Given the description of an element on the screen output the (x, y) to click on. 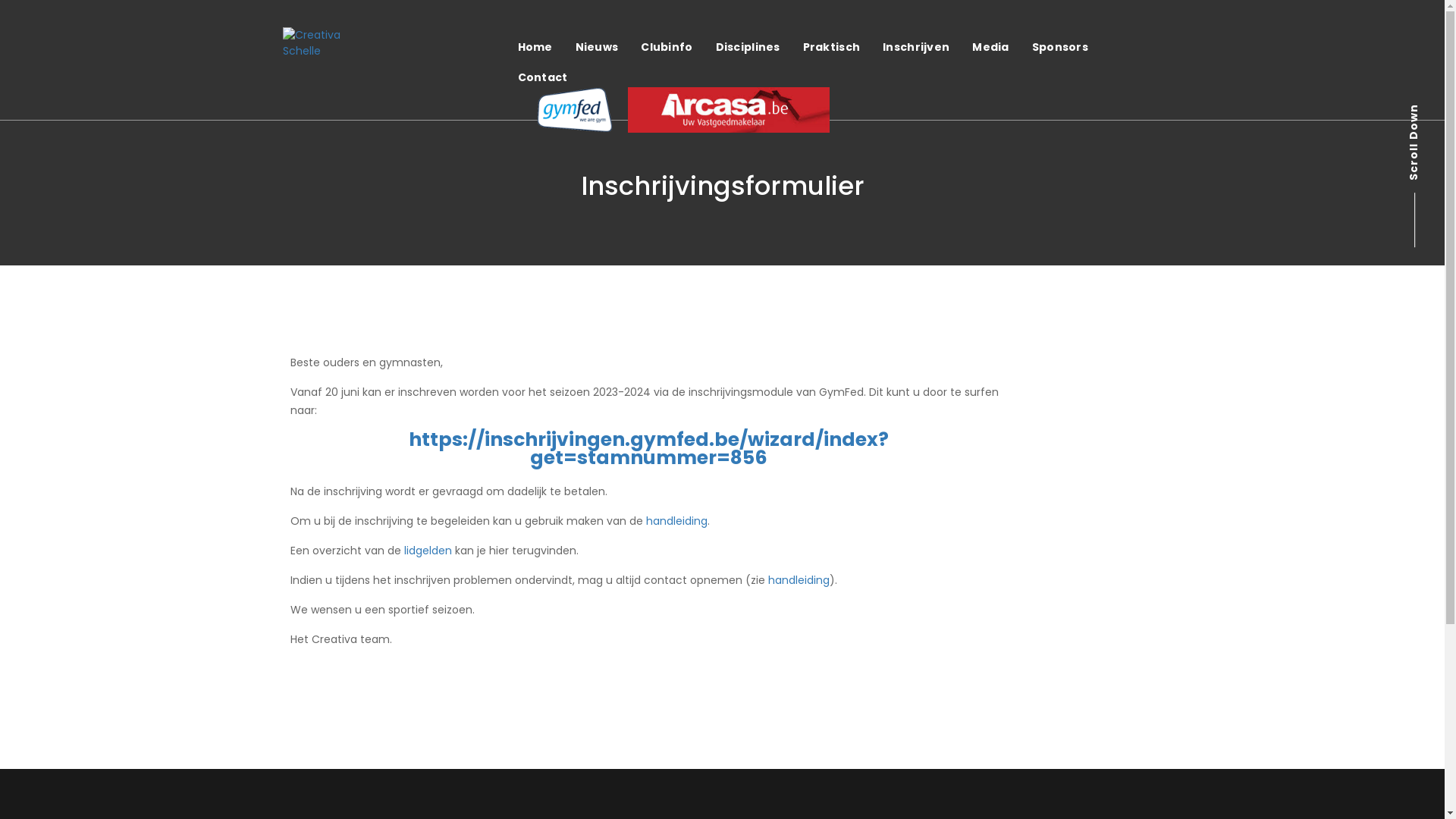
handleiding Element type: text (676, 520)
Sponsors Element type: text (1059, 46)
Praktisch Element type: text (831, 46)
Nieuws Element type: text (597, 46)
Media Element type: text (989, 46)
lidgelden Element type: text (427, 550)
Inschrijven Element type: text (915, 46)
Disciplines Element type: text (747, 46)
Contact Element type: text (542, 77)
Clubinfo Element type: text (666, 46)
handleiding Element type: text (797, 579)
Home Element type: text (535, 46)
